Given the description of an element on the screen output the (x, y) to click on. 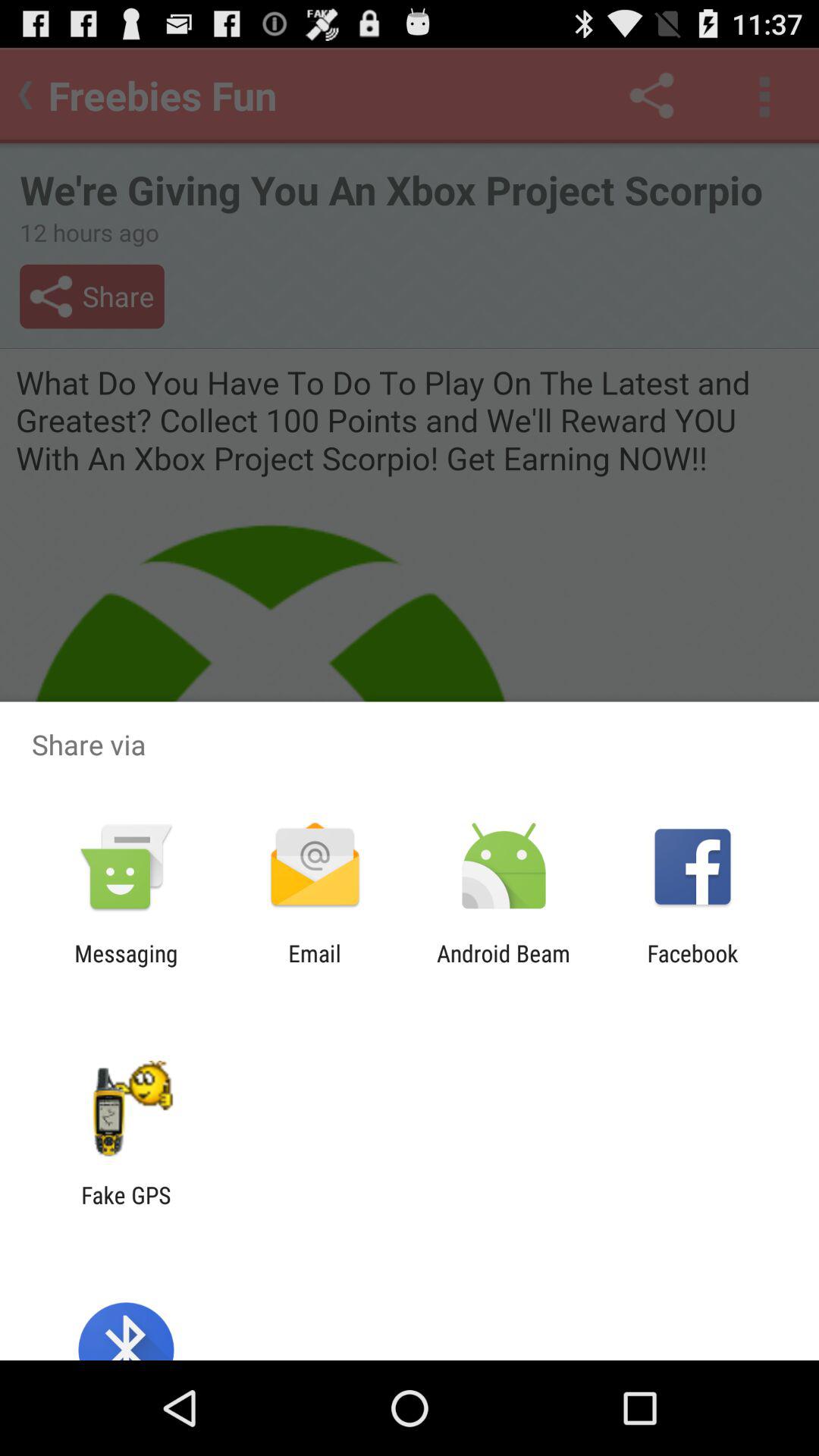
press app to the left of email (126, 966)
